Given the description of an element on the screen output the (x, y) to click on. 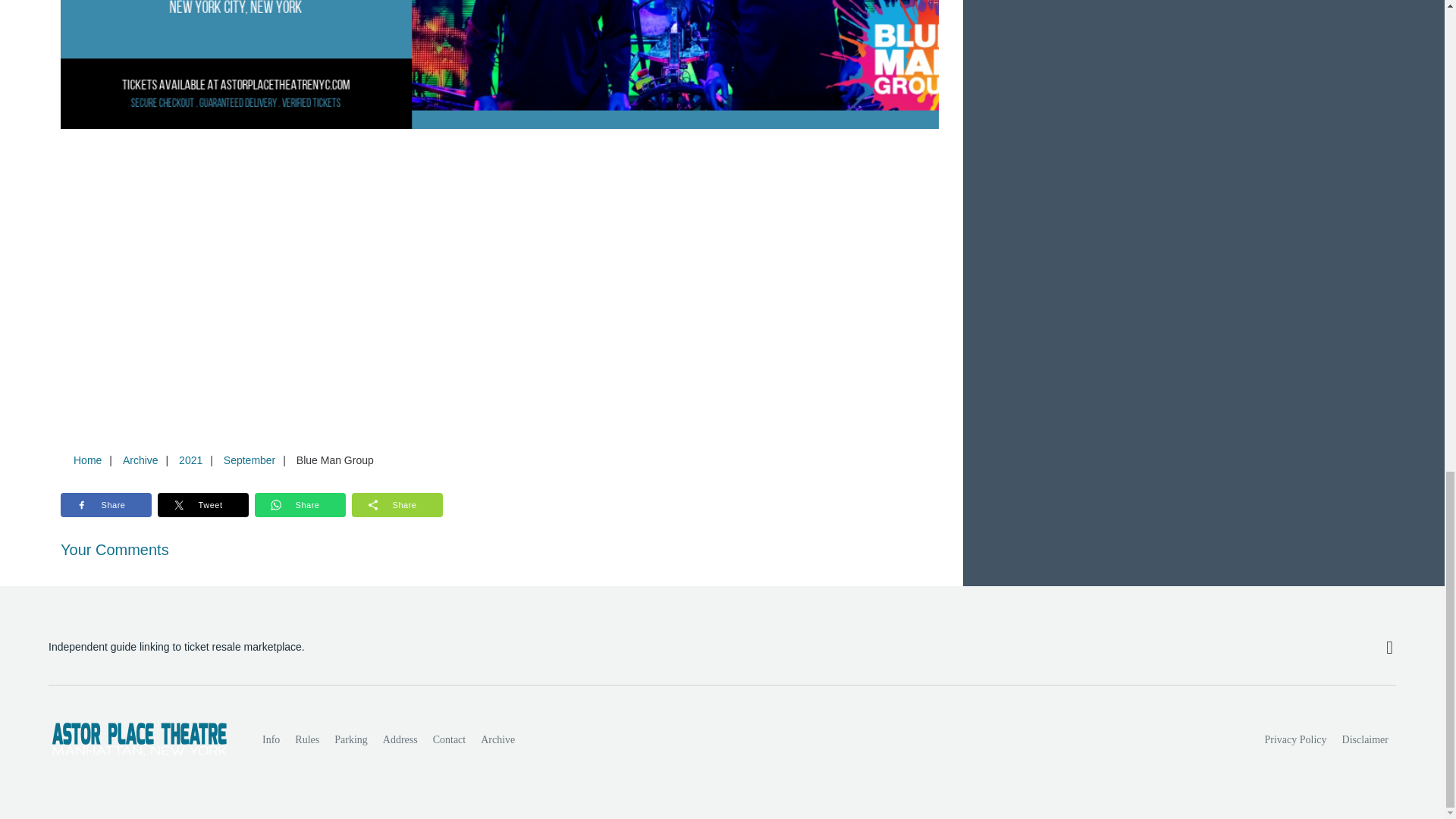
Home (87, 460)
Disclaimer (1365, 739)
Parking (350, 739)
Contact (449, 739)
Archive (497, 739)
2021 (190, 460)
Info (270, 739)
Blue Man Group at Astor Place Theatre tickets (500, 63)
Rules (306, 739)
September (248, 460)
Address (400, 739)
Archive (140, 460)
Privacy Policy (1296, 739)
